Given the description of an element on the screen output the (x, y) to click on. 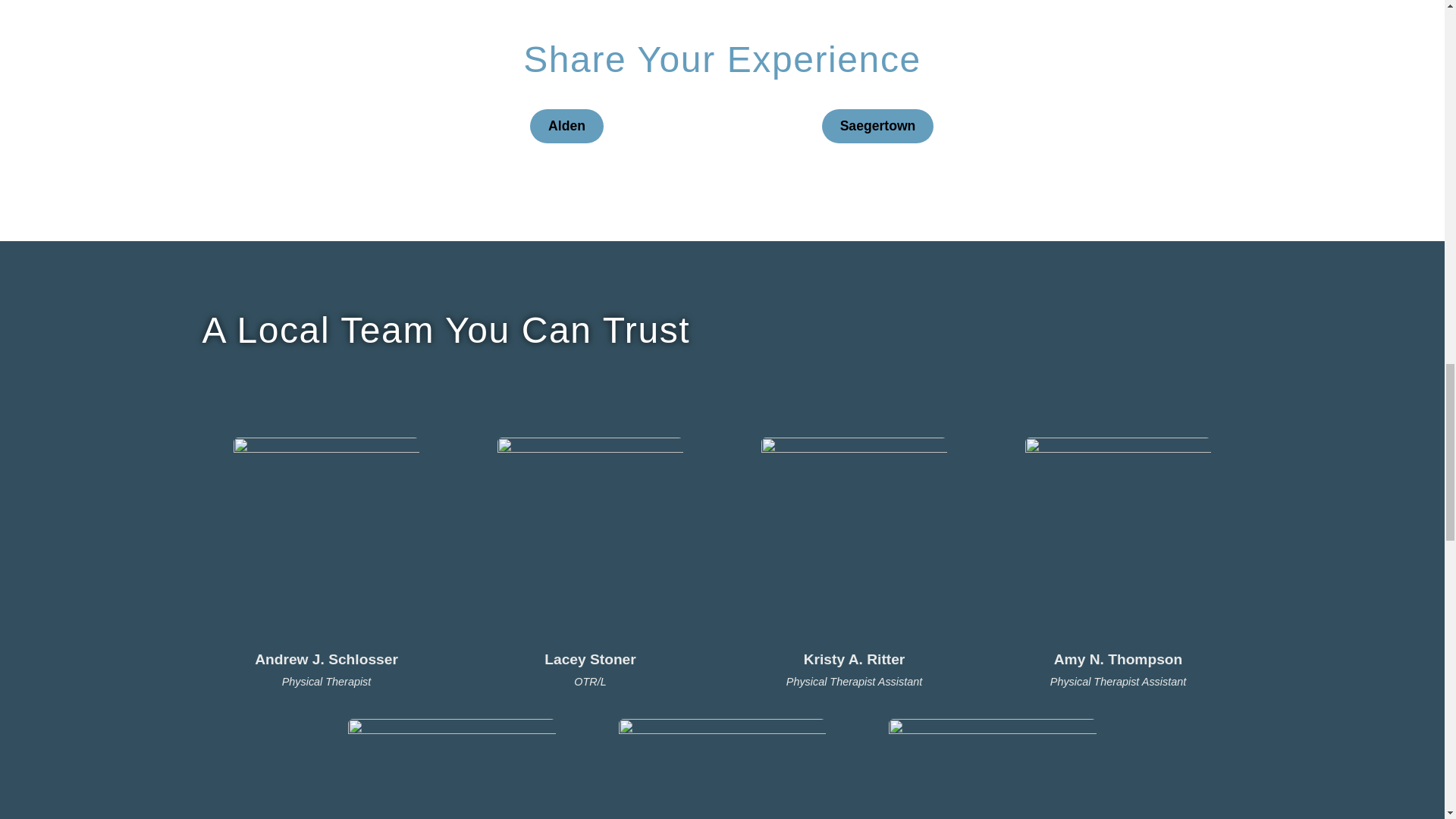
Saegertown (878, 125)
Alden (566, 125)
